Given the description of an element on the screen output the (x, y) to click on. 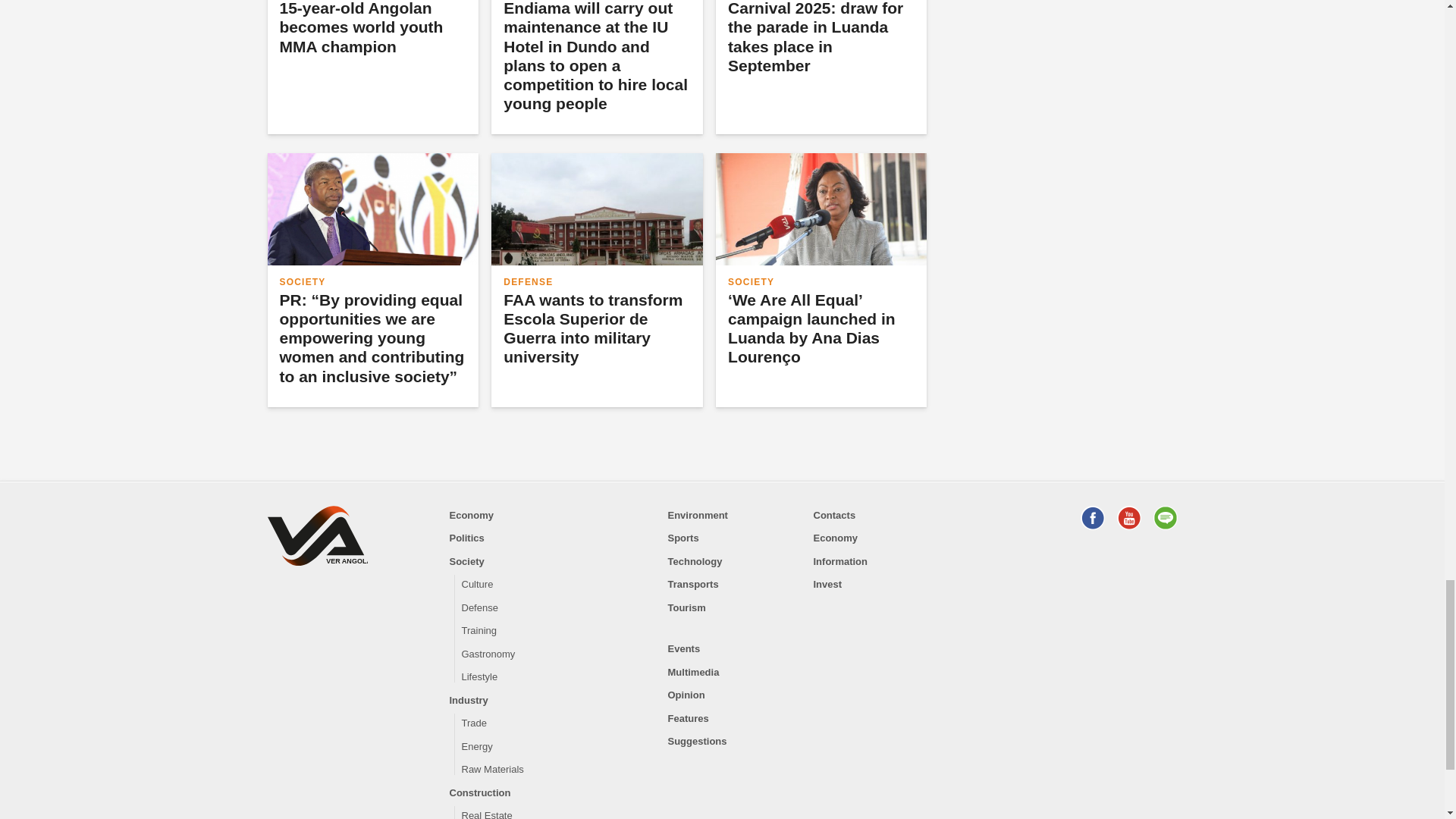
Ver Angola - YouTube (1128, 517)
Ver Angola - Daily, the best of Angola (316, 538)
Ver Angola - Facebook (1091, 517)
